Given the description of an element on the screen output the (x, y) to click on. 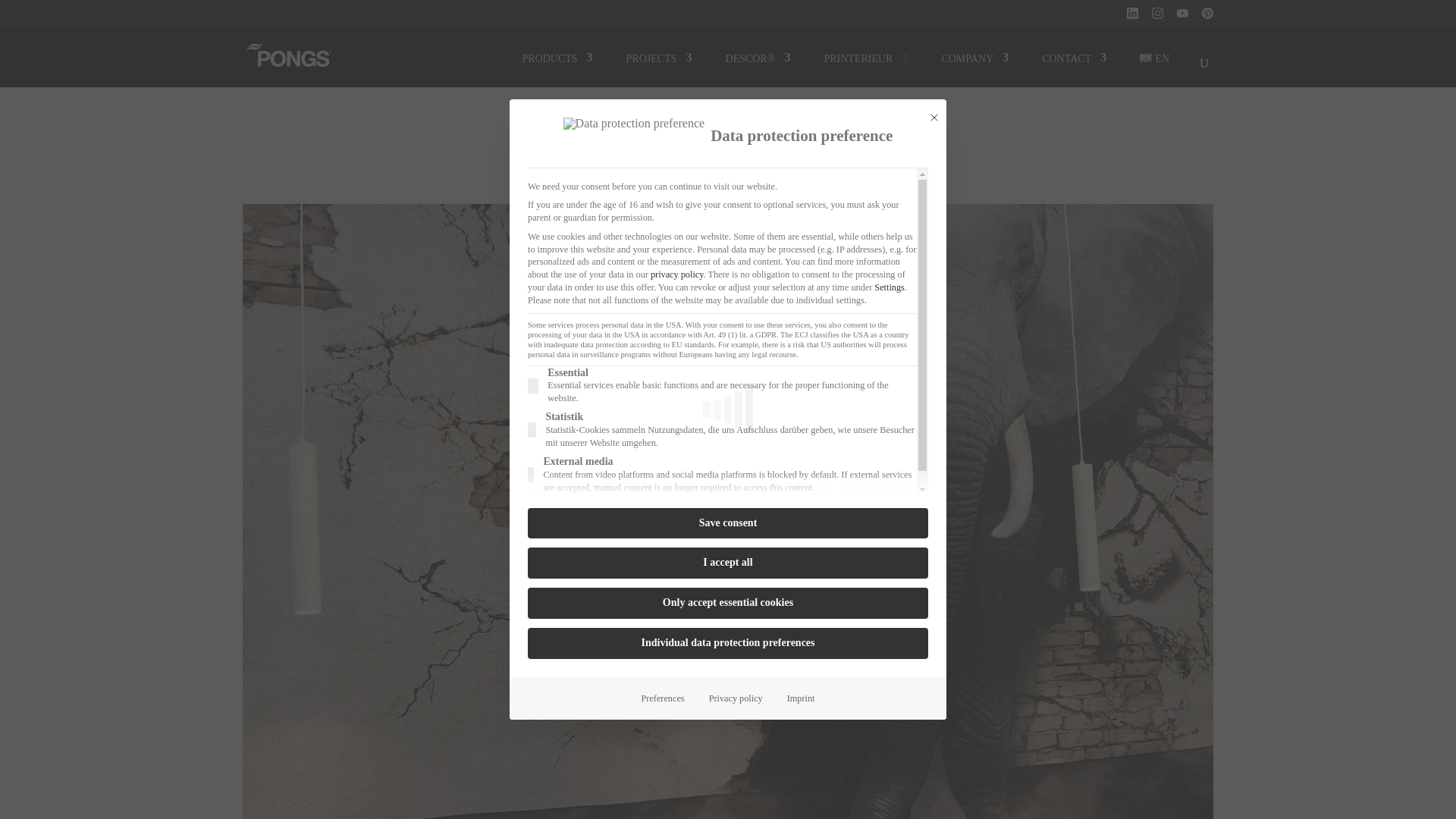
COMPANY (974, 57)
CONTACT (1074, 57)
PRODUCTS (556, 57)
PROJECTS (659, 57)
PRINTERIEUR (865, 57)
